Given the description of an element on the screen output the (x, y) to click on. 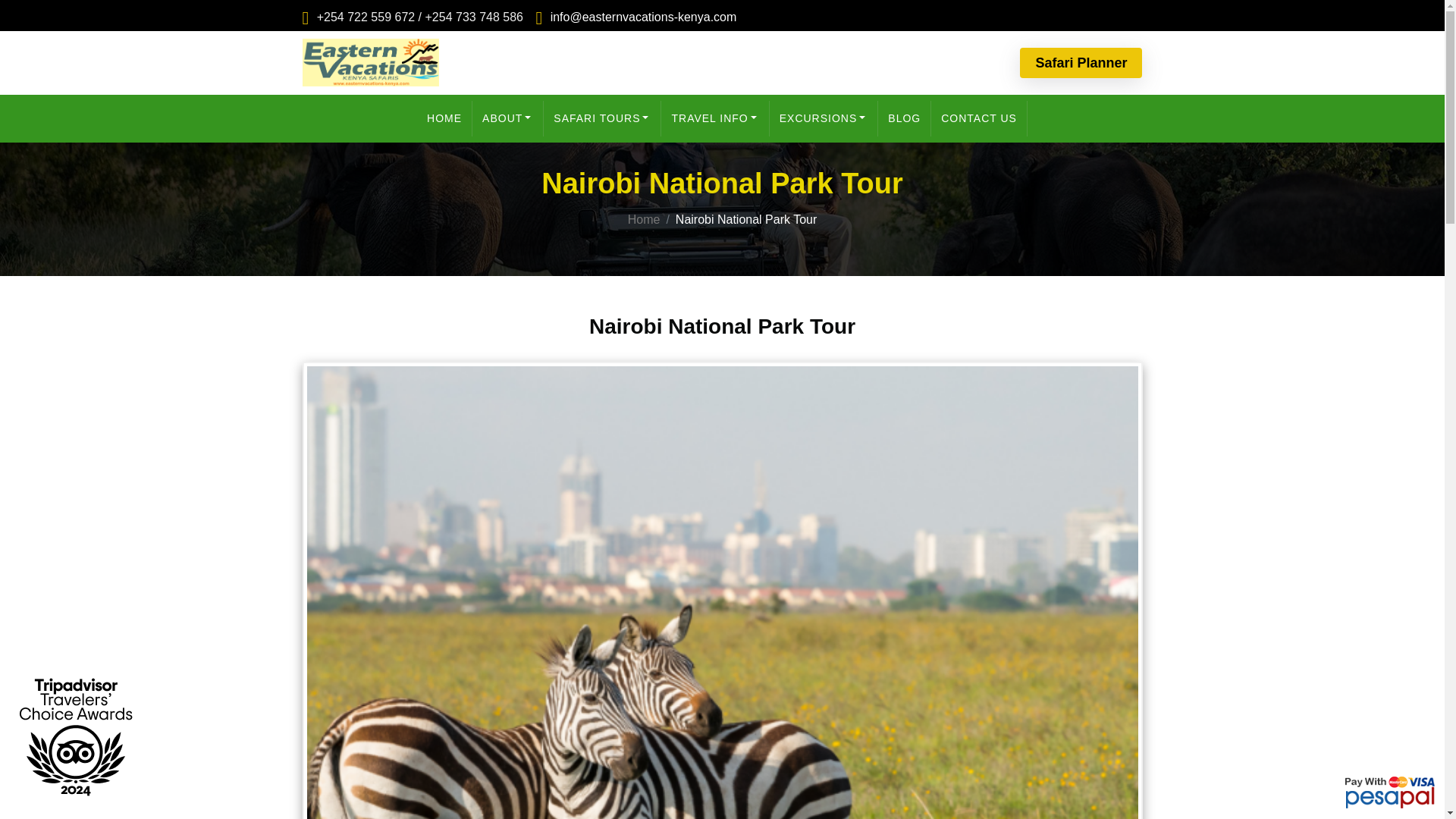
ABOUT (507, 118)
EXCURSIONS (824, 118)
BLOG (904, 118)
TRAVEL INFO (714, 118)
Home (644, 219)
SAFARI TOURS (602, 118)
Safari Planner (1080, 62)
CONTACT US (979, 118)
HOME (443, 118)
